Given the description of an element on the screen output the (x, y) to click on. 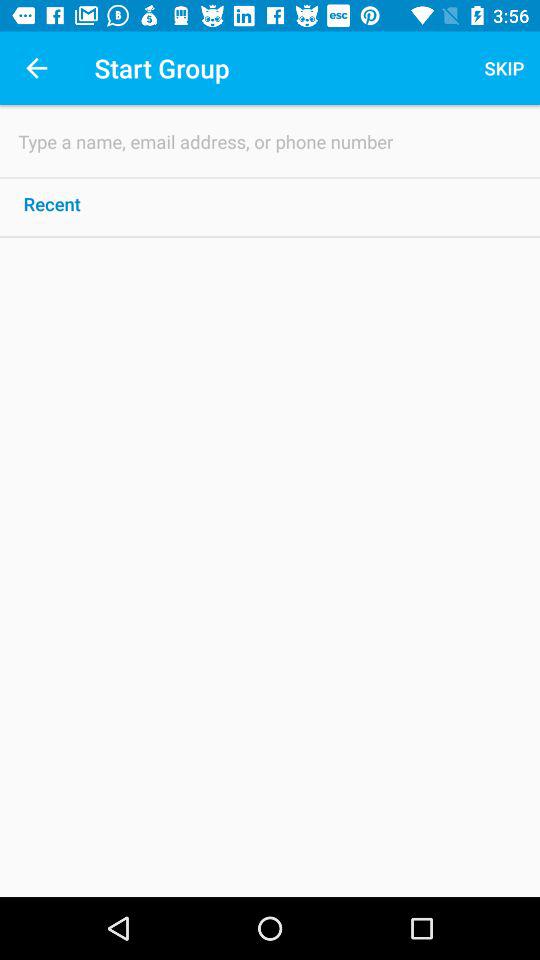
tap app next to the start group app (504, 67)
